Given the description of an element on the screen output the (x, y) to click on. 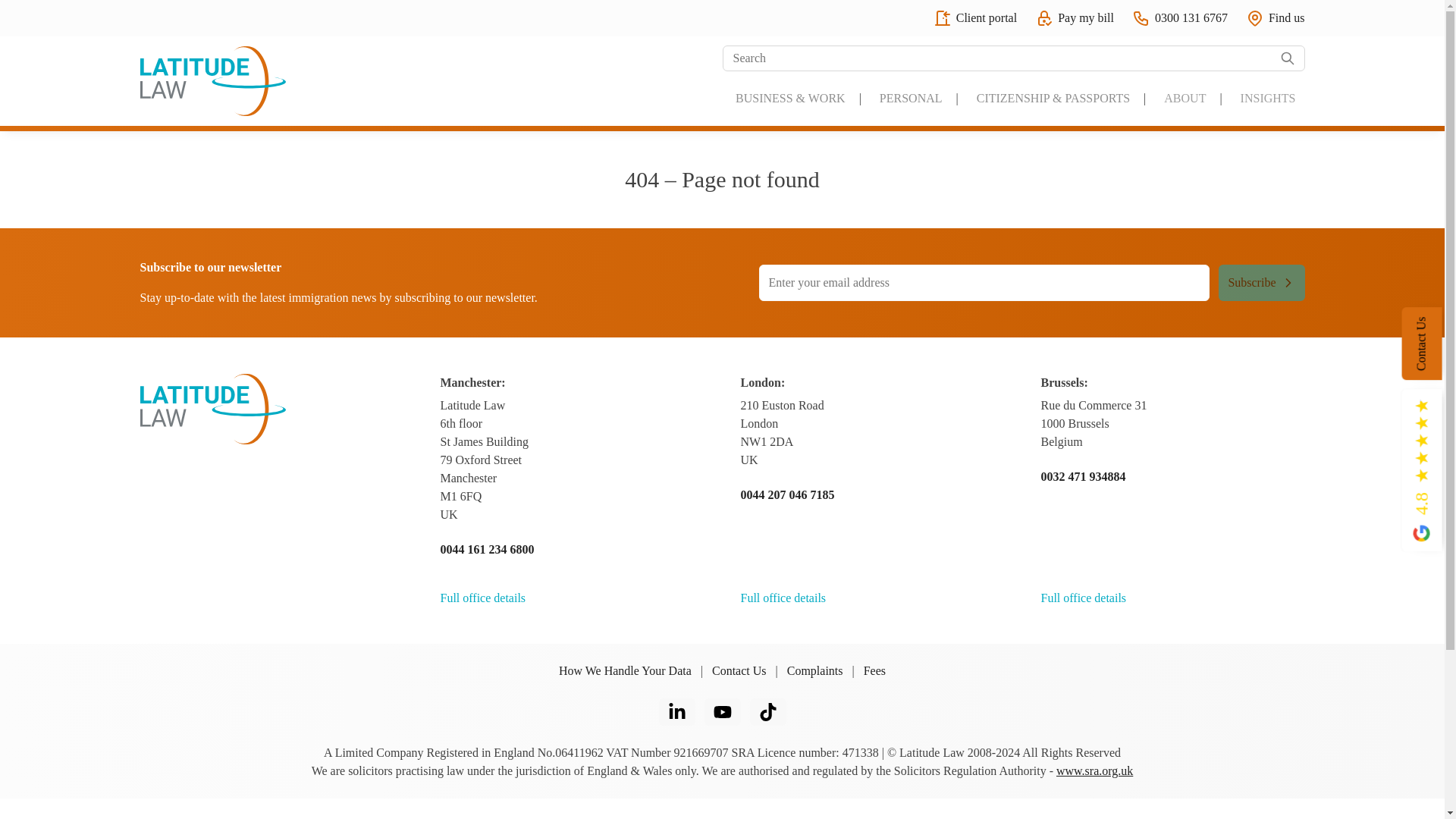
0300 131 6767 (1179, 18)
Client portal (974, 18)
Pay my bill (1074, 18)
Find us (1275, 18)
